Given the description of an element on the screen output the (x, y) to click on. 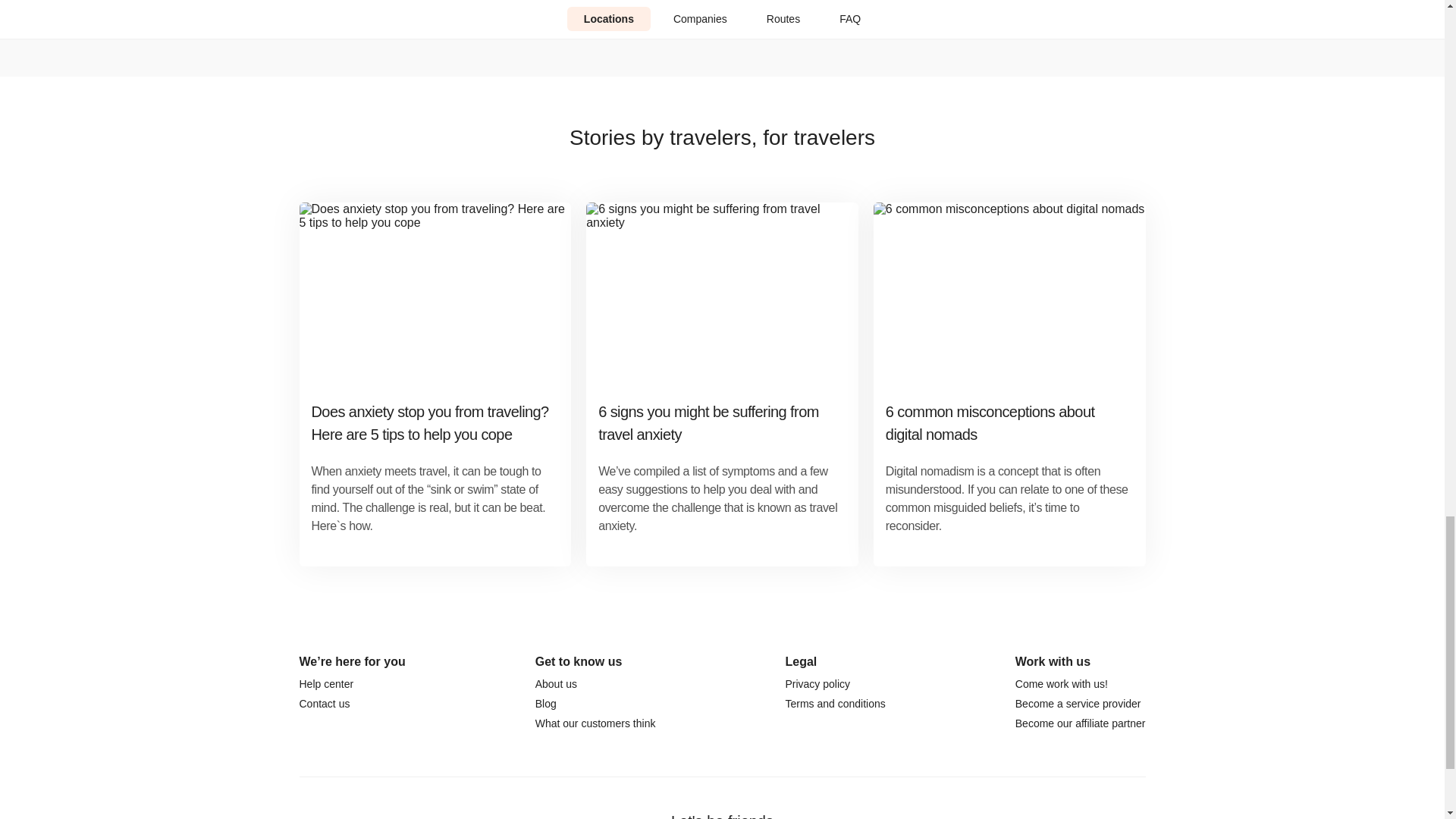
Privacy policy (817, 684)
Become a service provider (1077, 703)
Come work with us! (1061, 684)
Become our affiliate partner (1079, 723)
What our customers think (595, 723)
About us (555, 684)
Terms and conditions (834, 703)
Contact us (323, 703)
Blog (545, 703)
